Given the description of an element on the screen output the (x, y) to click on. 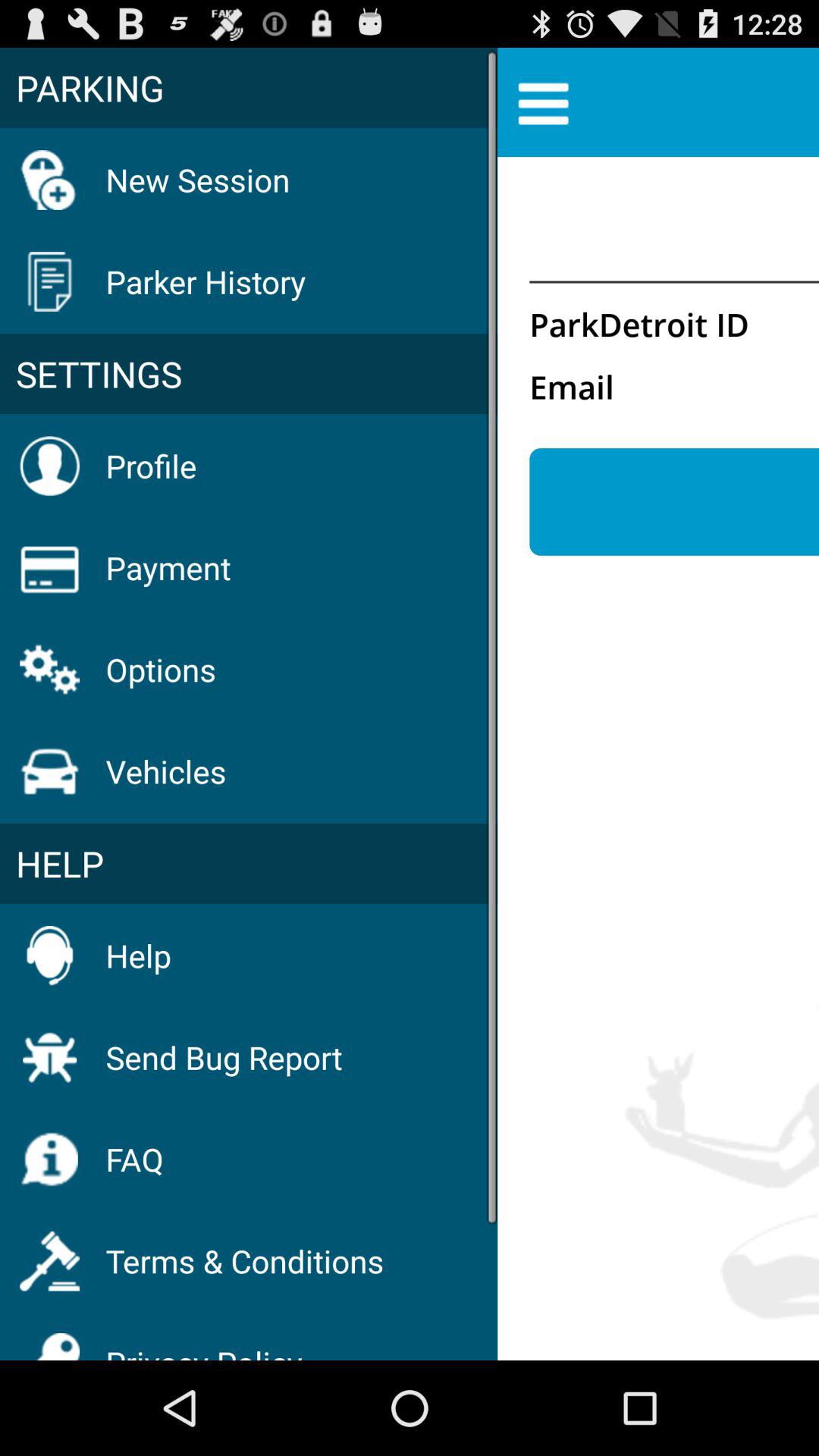
choose send bug report (223, 1056)
